Given the description of an element on the screen output the (x, y) to click on. 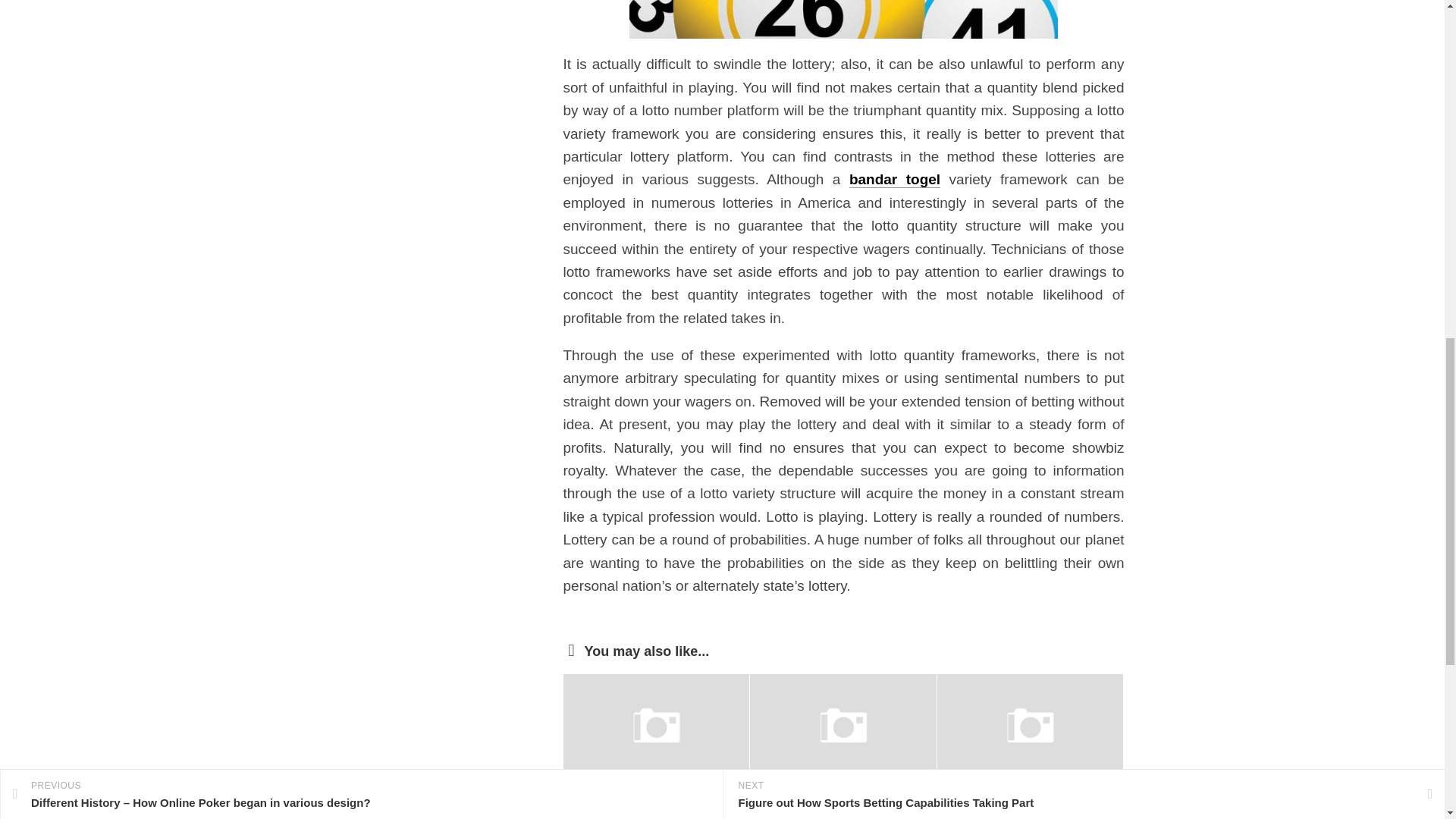
Tremendous Statistics Engaged in Online Gambling Casino Site (644, 807)
bandar togel (894, 179)
